Given the description of an element on the screen output the (x, y) to click on. 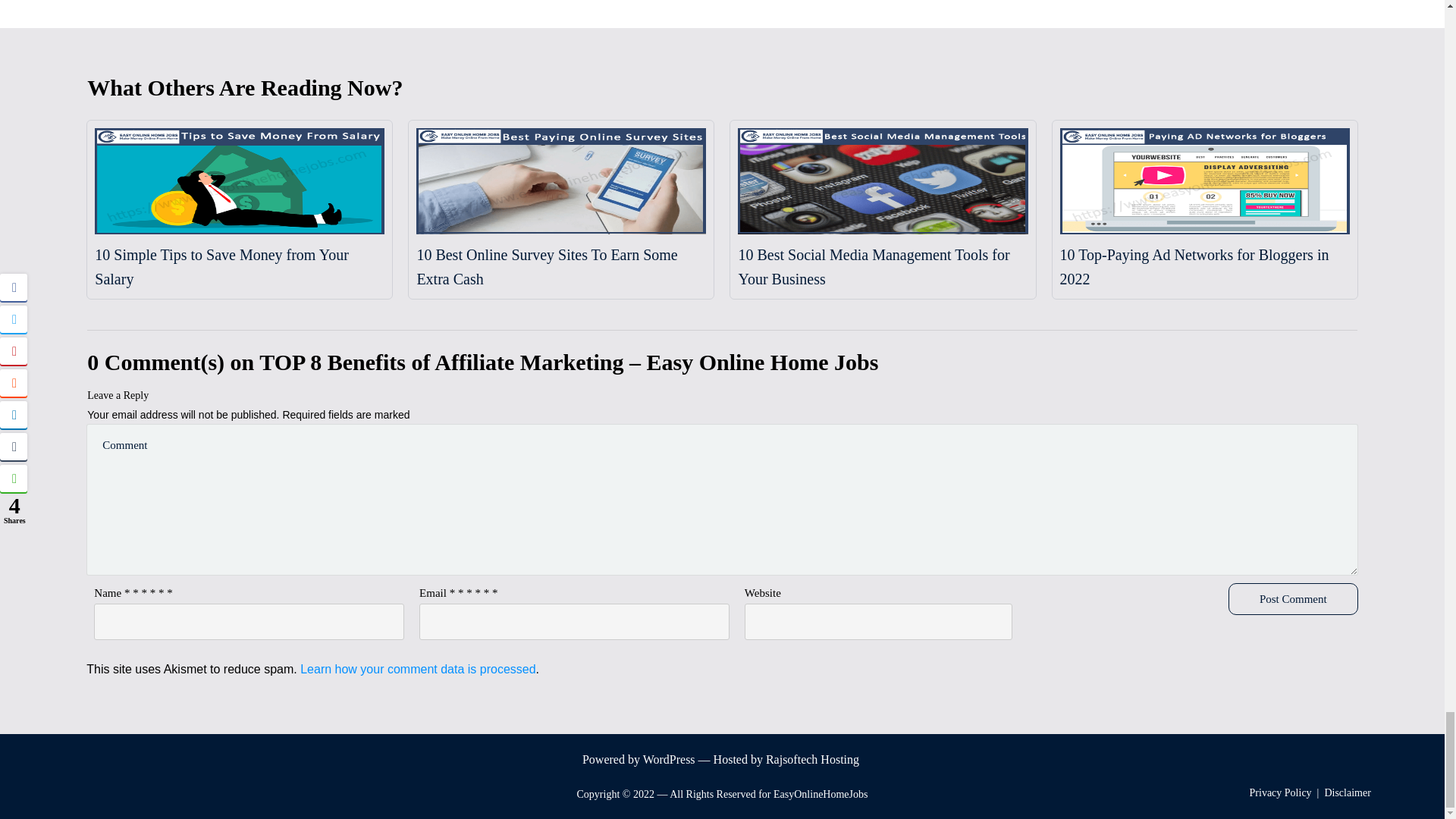
10 Best Online Survey Sites To Earn Some Extra Cash (546, 266)
10 Best Social Media Management Tools for Your Business (873, 266)
10 Simple Tips to Save Money from Your Salary (221, 266)
10 Top-Paying Ad Networks for Bloggers in 2022 (1194, 266)
